Given the description of an element on the screen output the (x, y) to click on. 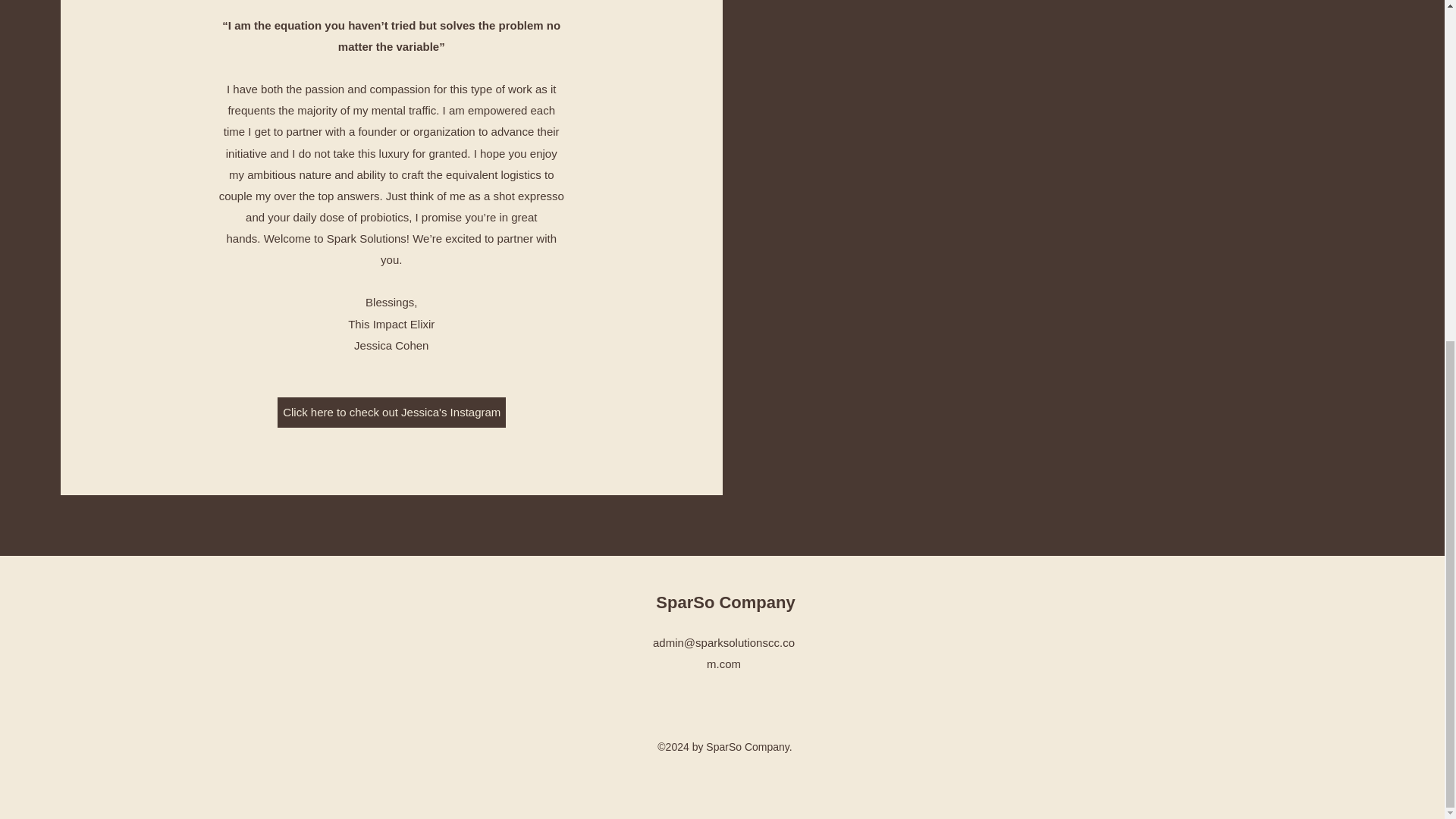
SparSo Company (725, 601)
Click here to check out Jessica's Instagram (391, 412)
